Given the description of an element on the screen output the (x, y) to click on. 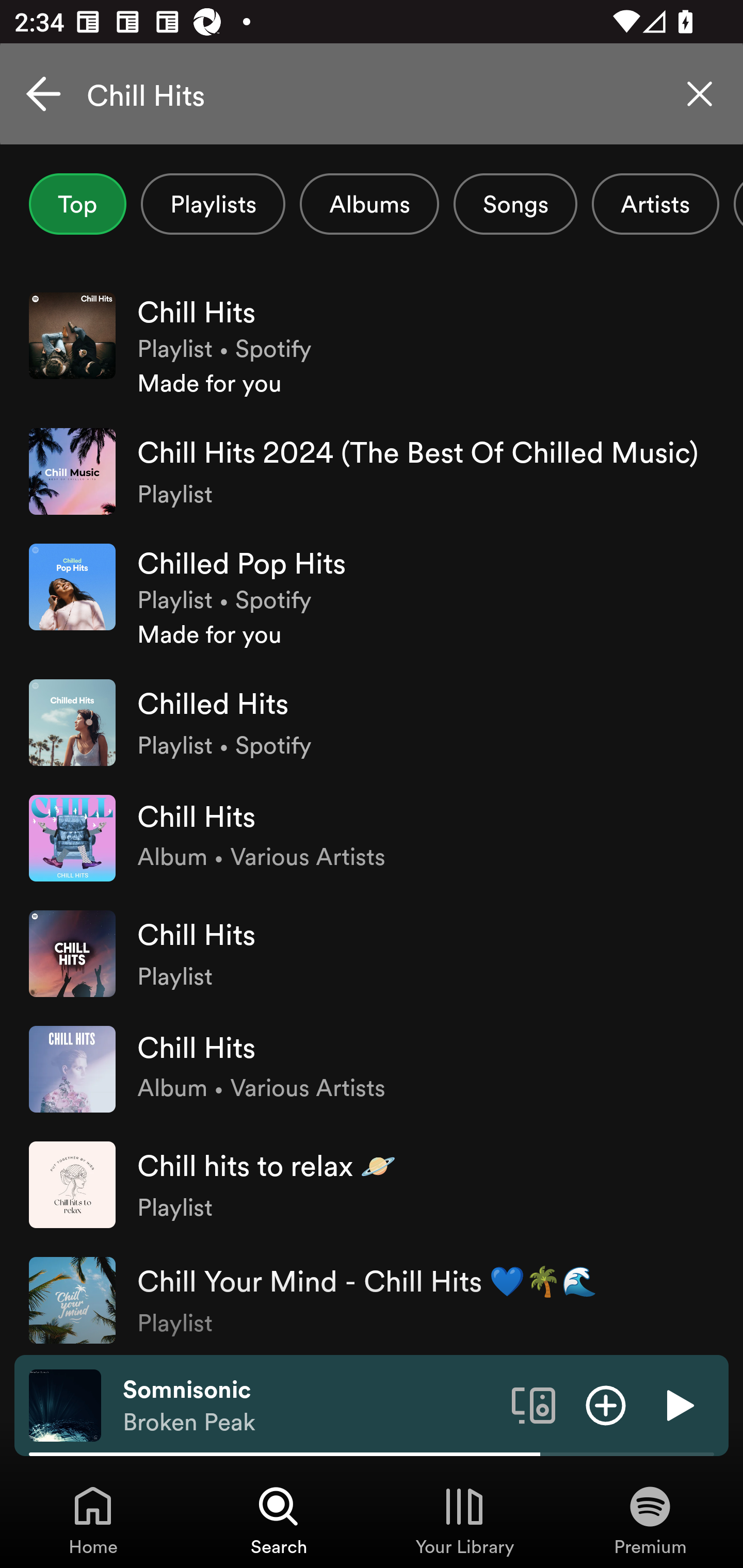
Chill Hits (371, 93)
Cancel (43, 93)
Clear search query (699, 93)
Top (77, 203)
Playlists (213, 203)
Albums (369, 203)
Songs (515, 203)
Artists (655, 203)
Chill Hits Playlist • Spotify Made for you (371, 345)
Chilled Pop Hits Playlist • Spotify Made for you (371, 596)
Chilled Hits Playlist • Spotify (371, 722)
Chill Hits Album • Various Artists (371, 837)
Chill Hits Playlist (371, 953)
Chill Hits Album • Various Artists (371, 1069)
Chill hits to relax 🪐 Playlist (371, 1184)
Chill Your Mind - Chill Hits 💙🌴🌊 Playlist (371, 1297)
Somnisonic Broken Peak (309, 1405)
The cover art of the currently playing track (64, 1404)
Connect to a device. Opens the devices menu (533, 1404)
Add item (605, 1404)
Play (677, 1404)
Home, Tab 1 of 4 Home Home (92, 1519)
Search, Tab 2 of 4 Search Search (278, 1519)
Your Library, Tab 3 of 4 Your Library Your Library (464, 1519)
Premium, Tab 4 of 4 Premium Premium (650, 1519)
